Given the description of an element on the screen output the (x, y) to click on. 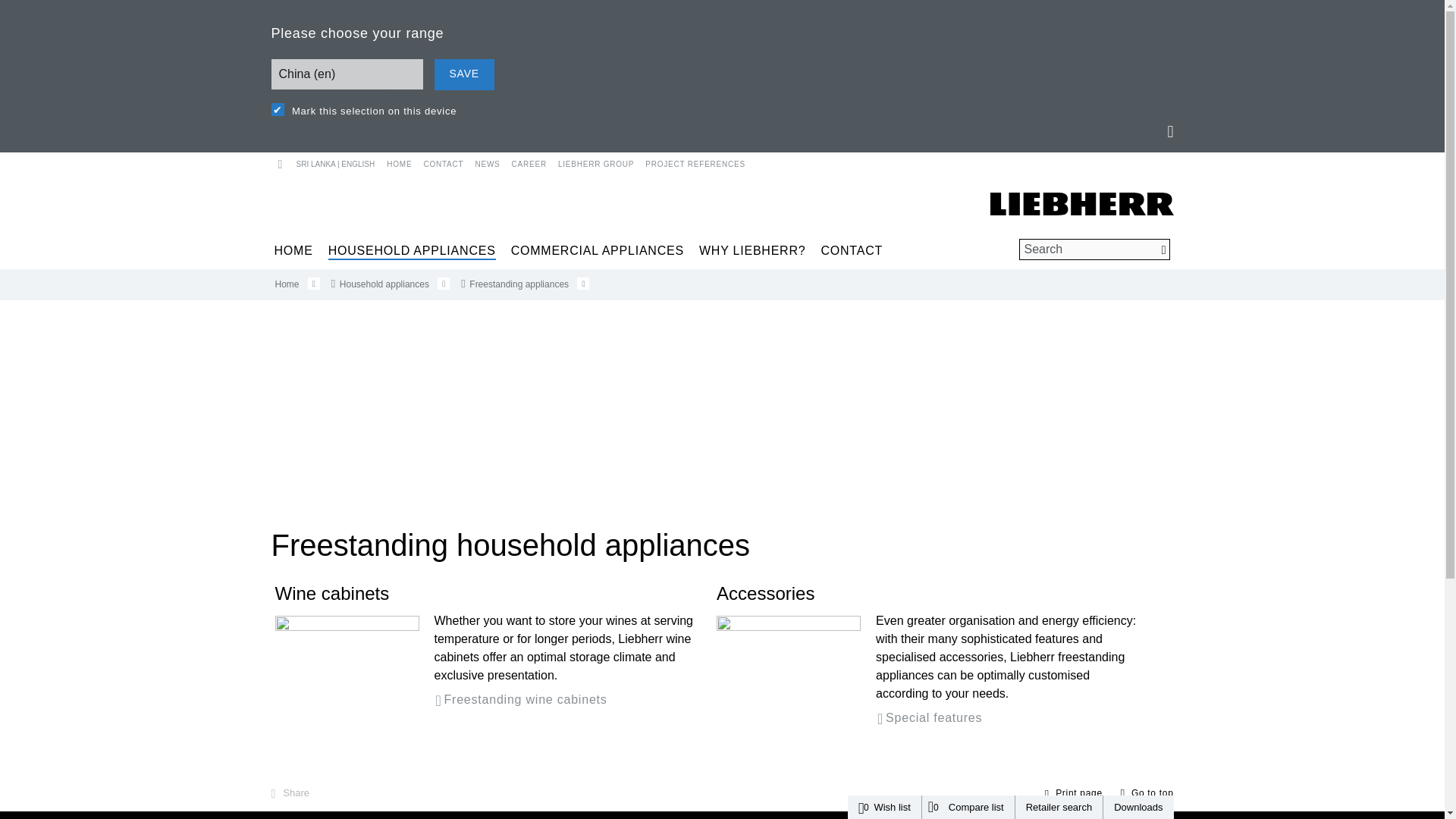
Contact (437, 161)
HOUSEHOLD APPLIANCES (412, 250)
on (276, 109)
SAVE (463, 74)
HOME (294, 250)
Project references (689, 161)
COMMERCIAL APPLIANCES (597, 250)
NEWS (481, 161)
Home (397, 161)
HOME (397, 161)
